Given the description of an element on the screen output the (x, y) to click on. 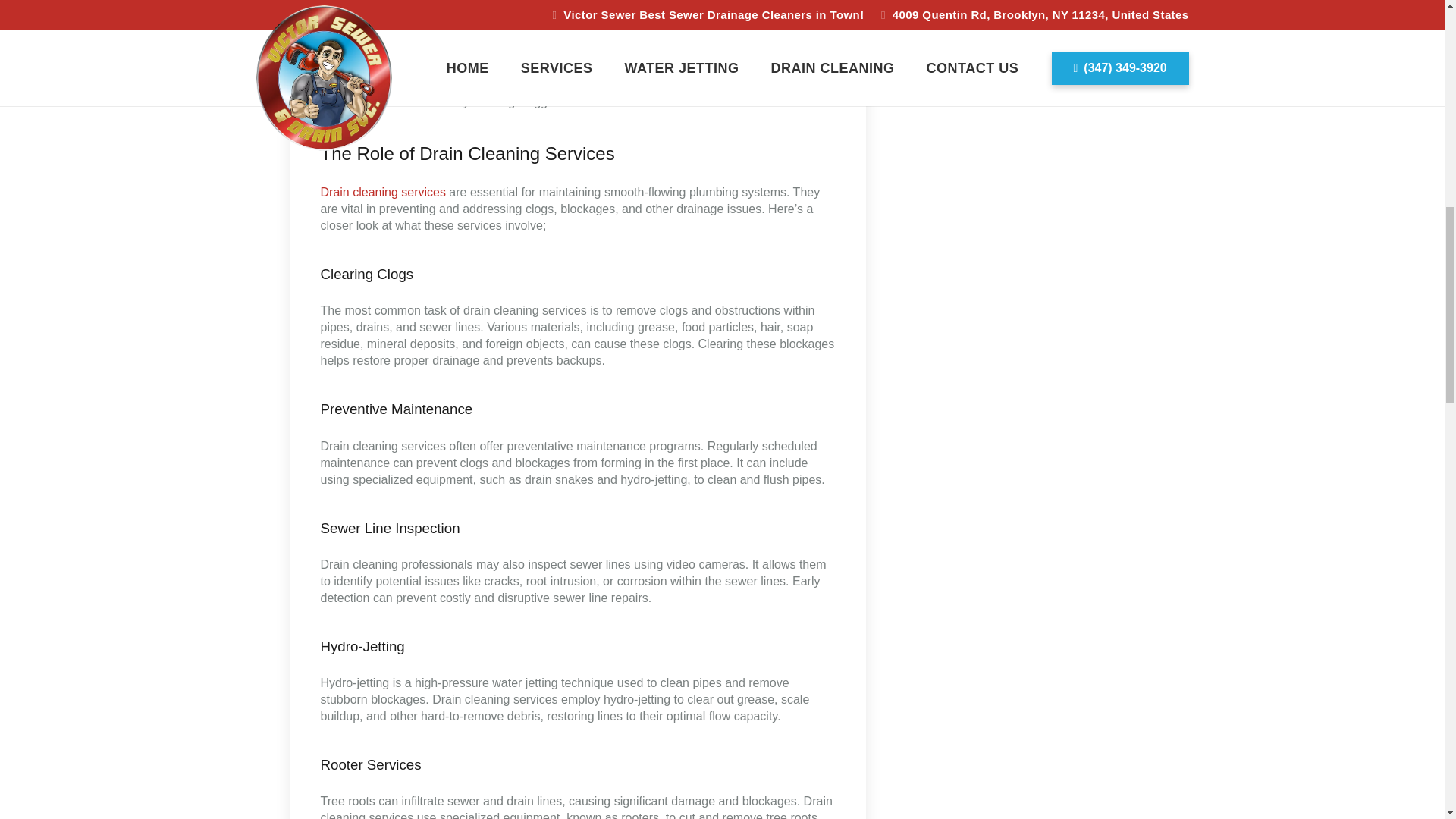
Drain cleaning services (382, 192)
Back to top (1413, 30)
drain cleaning services (583, 84)
